Given the description of an element on the screen output the (x, y) to click on. 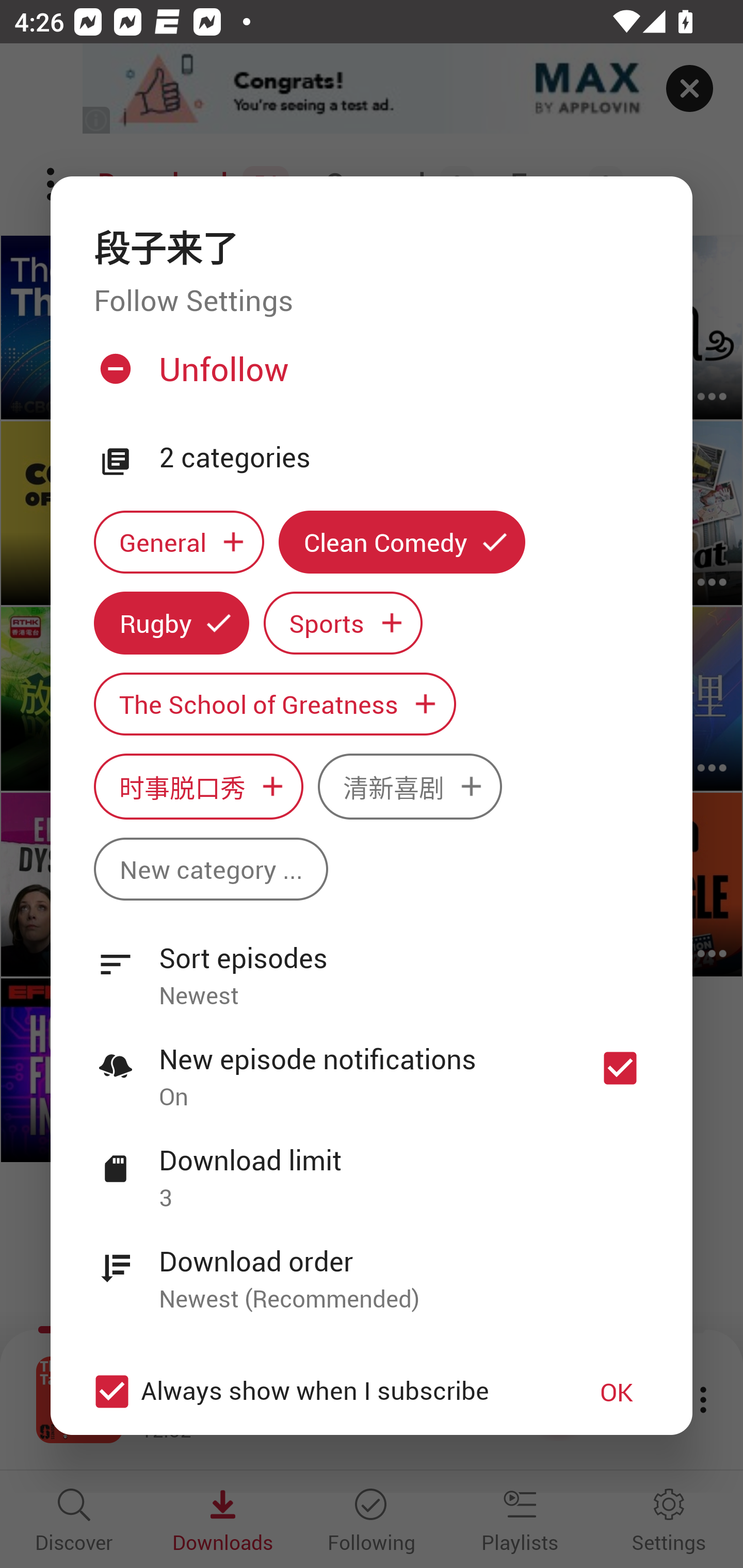
Unfollow (369, 376)
2 categories (404, 457)
General (178, 542)
Clean Comedy (401, 542)
Rugby (170, 622)
Sports (342, 622)
The School of Greatness (274, 703)
时事脱口秀 (198, 787)
清新喜剧 (410, 787)
New category ... (210, 868)
Sort episodes Newest (371, 965)
New episode notifications (620, 1068)
Download limit 3 (371, 1167)
Download order Newest (Recommended) (371, 1268)
OK (616, 1391)
Always show when I subscribe (320, 1391)
